Given the description of an element on the screen output the (x, y) to click on. 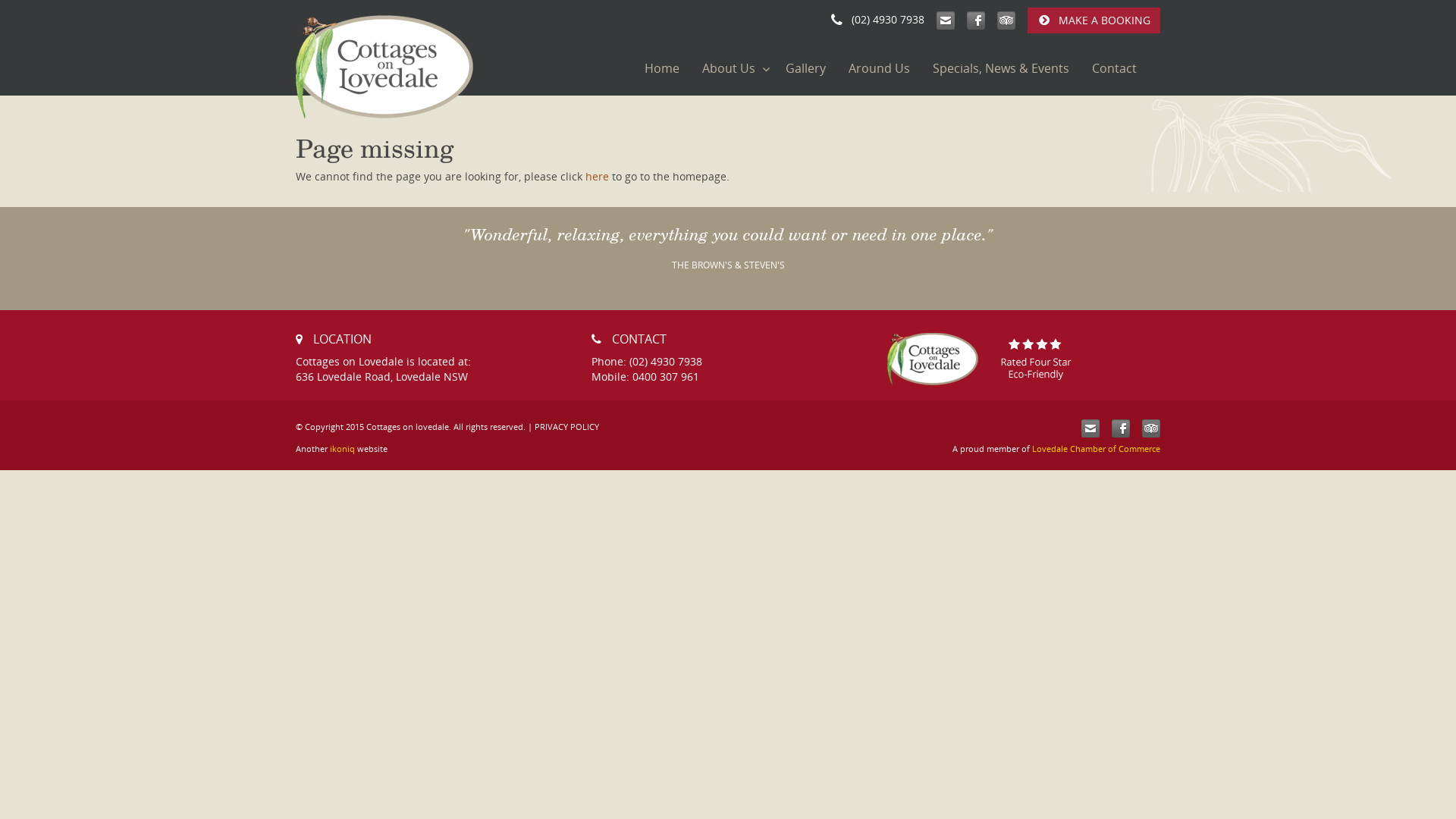
contact Element type: text (1090, 428)
MAKE A BOOKING Element type: text (1093, 20)
Contact Element type: text (1114, 68)
Mobile: 0400 307 961 Element type: text (645, 376)
ikoniq Element type: text (341, 448)
PRIVACY POLICY Element type: text (566, 426)
Lovedale Chamber of Commerce Element type: text (1096, 448)
facebook Element type: text (975, 20)
About Us Element type: text (732, 68)
Phone: (02) 4930 7938 Element type: text (646, 361)
contact Element type: text (945, 20)
Specials, News & Events Element type: text (1000, 68)
  (02) 4930 7938 Element type: text (877, 19)
Around Us Element type: text (879, 68)
Gallery Element type: text (805, 68)
facebook Element type: text (1120, 428)
tripadvisor Element type: text (1006, 20)
here Element type: text (596, 176)
tripadvisor Element type: text (1151, 428)
Home Element type: text (661, 68)
